Given the description of an element on the screen output the (x, y) to click on. 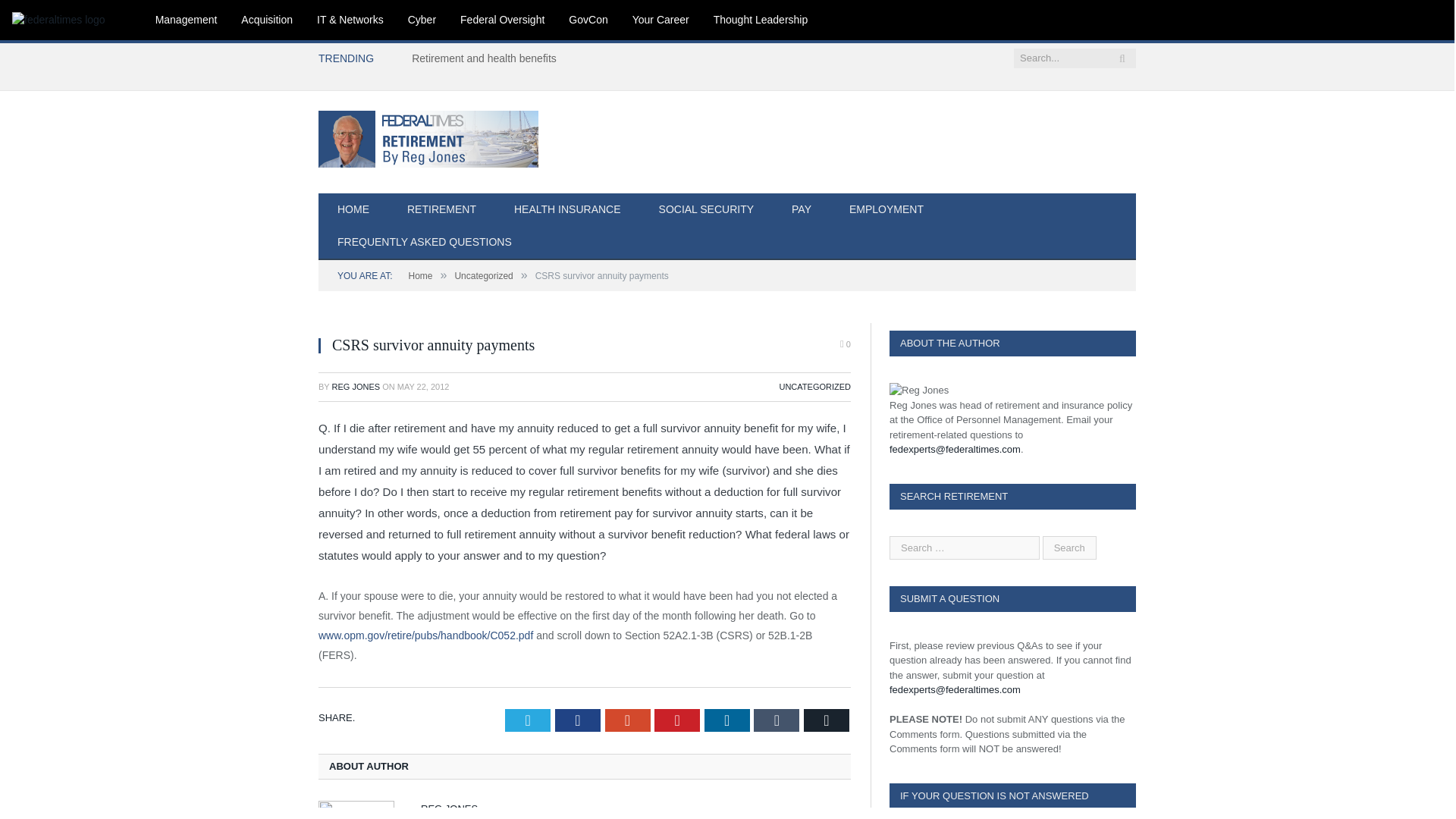
Posts by Reg Jones (355, 386)
Uncategorized (483, 276)
Thought Leadership (761, 19)
REG JONES (355, 386)
Ask The Experts: Retirement (428, 136)
Search (1069, 546)
Federal Oversight (502, 19)
LinkedIn (726, 720)
Home (419, 276)
Search (1069, 546)
